Given the description of an element on the screen output the (x, y) to click on. 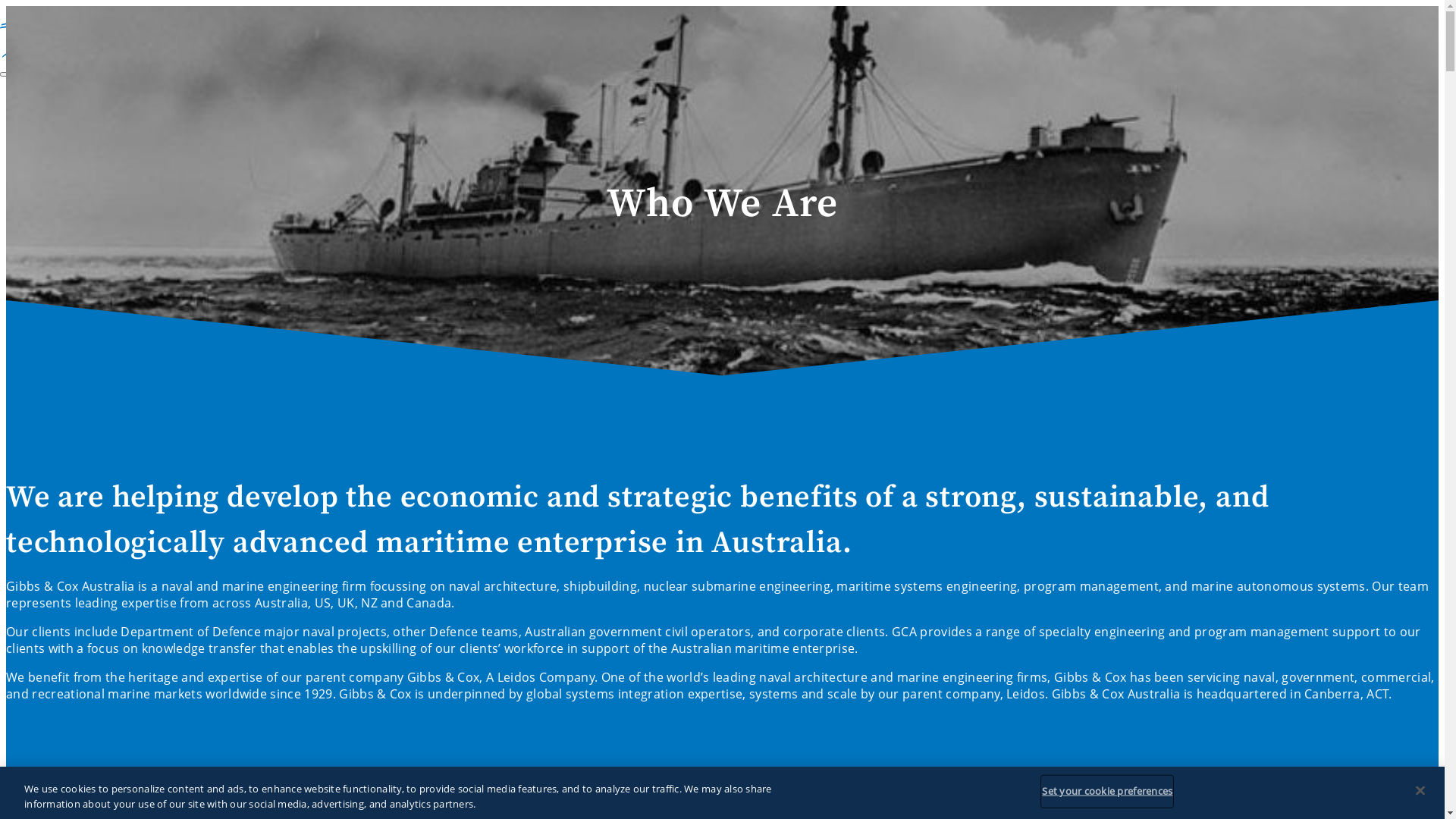
Contact Element type: text (53, 331)
Maritime Autonomy Element type: text (119, 281)
What We Do Element type: text (76, 198)
Set your cookie preferences Element type: text (1106, 791)
Our Mission & Values Element type: text (123, 148)
Technical Advisory Element type: text (115, 231)
Submarines Element type: text (95, 248)
Our Team Element type: text (89, 181)
Who We Are Element type: text (76, 114)
Sustainment & Shipbuilding Element type: text (142, 265)
Home Element type: text (47, 98)
Our History Element type: text (95, 164)
Careers Element type: text (53, 315)
Papers & Documents Element type: text (123, 298)
